Given the description of an element on the screen output the (x, y) to click on. 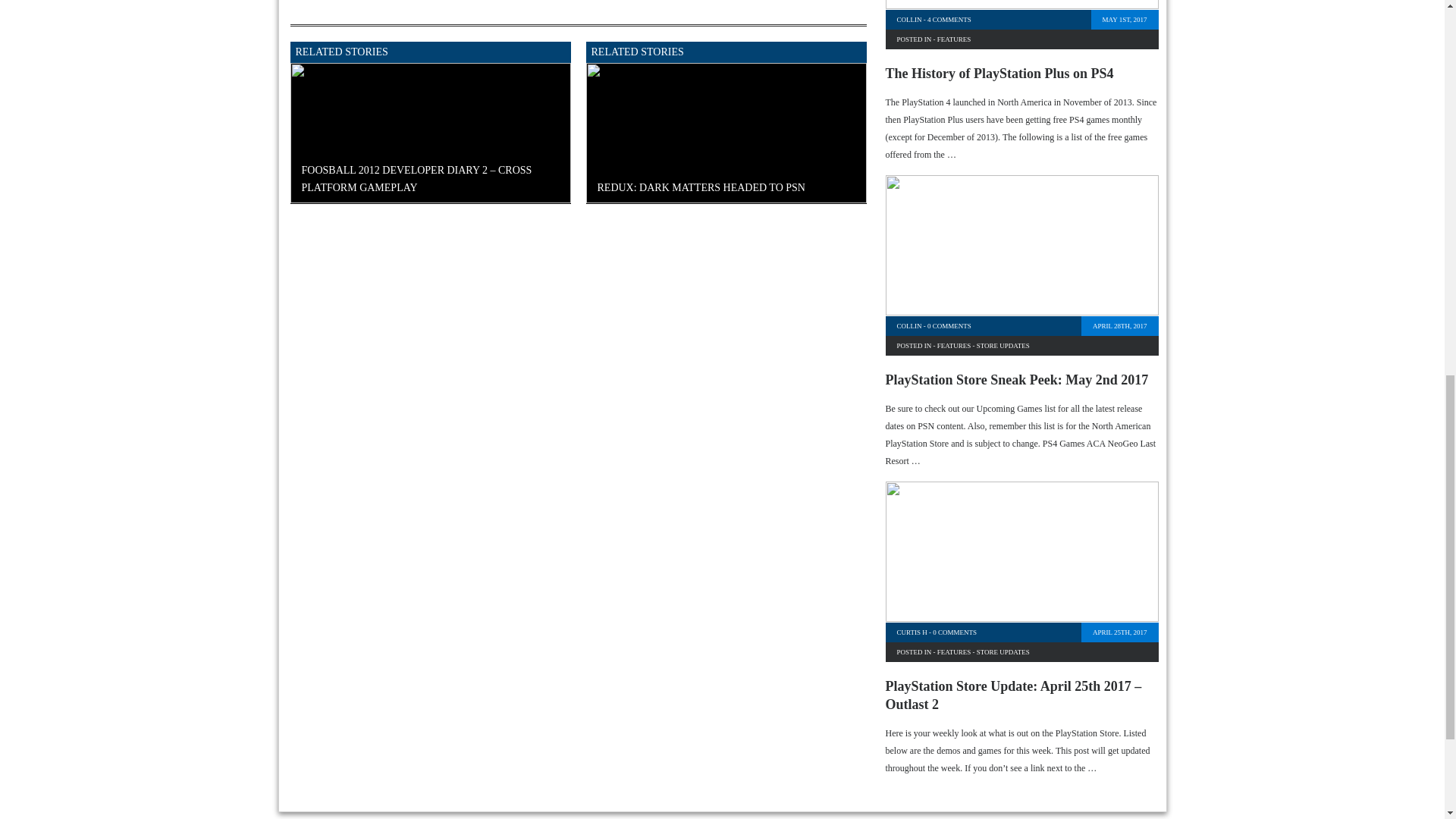
Posts by Collin (908, 326)
Posts by Collin (908, 19)
Posts by Curtis H (911, 632)
